Given the description of an element on the screen output the (x, y) to click on. 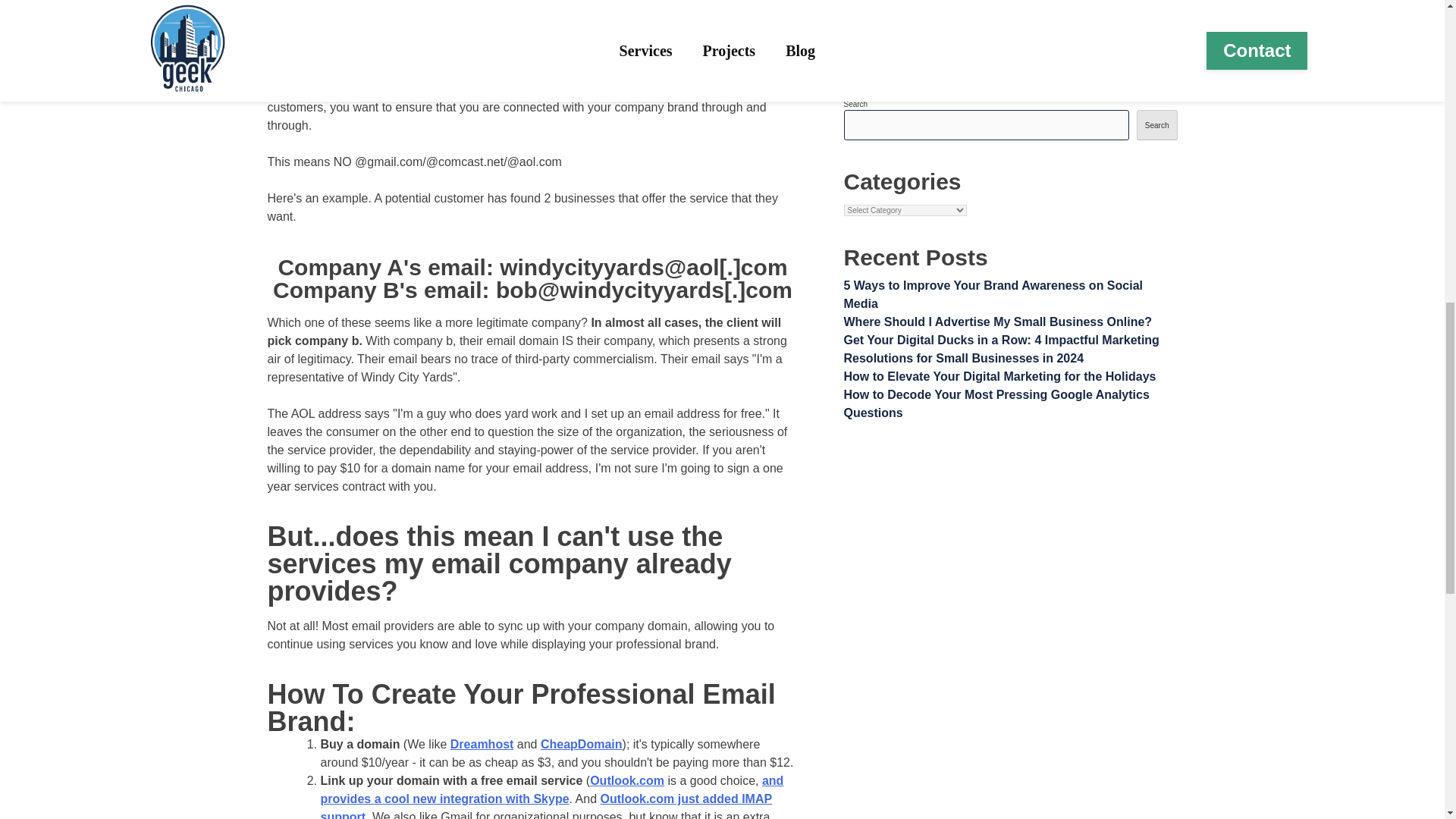
CheapDomain (581, 744)
and provides a cool new integration with Skype (551, 789)
Dreamhost (481, 744)
Outlook.com (626, 780)
Outlook.com just added IMAP support (545, 805)
